Given the description of an element on the screen output the (x, y) to click on. 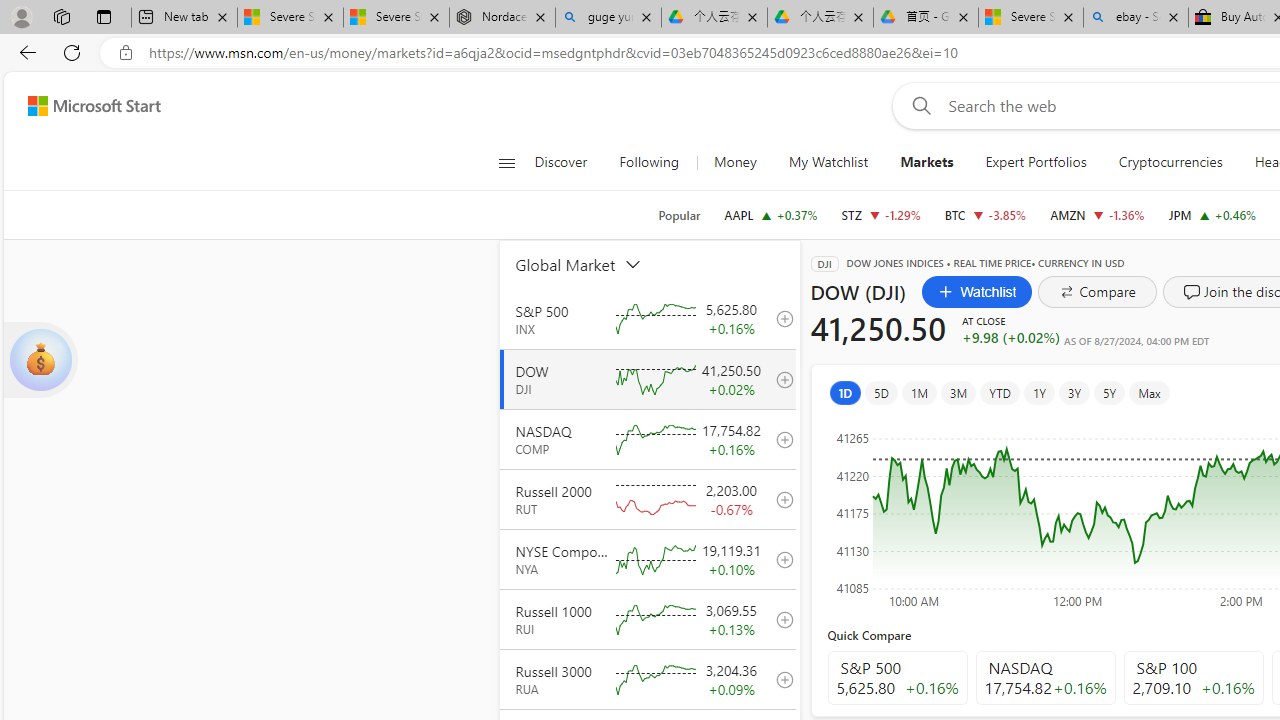
Markets (927, 162)
